Given the description of an element on the screen output the (x, y) to click on. 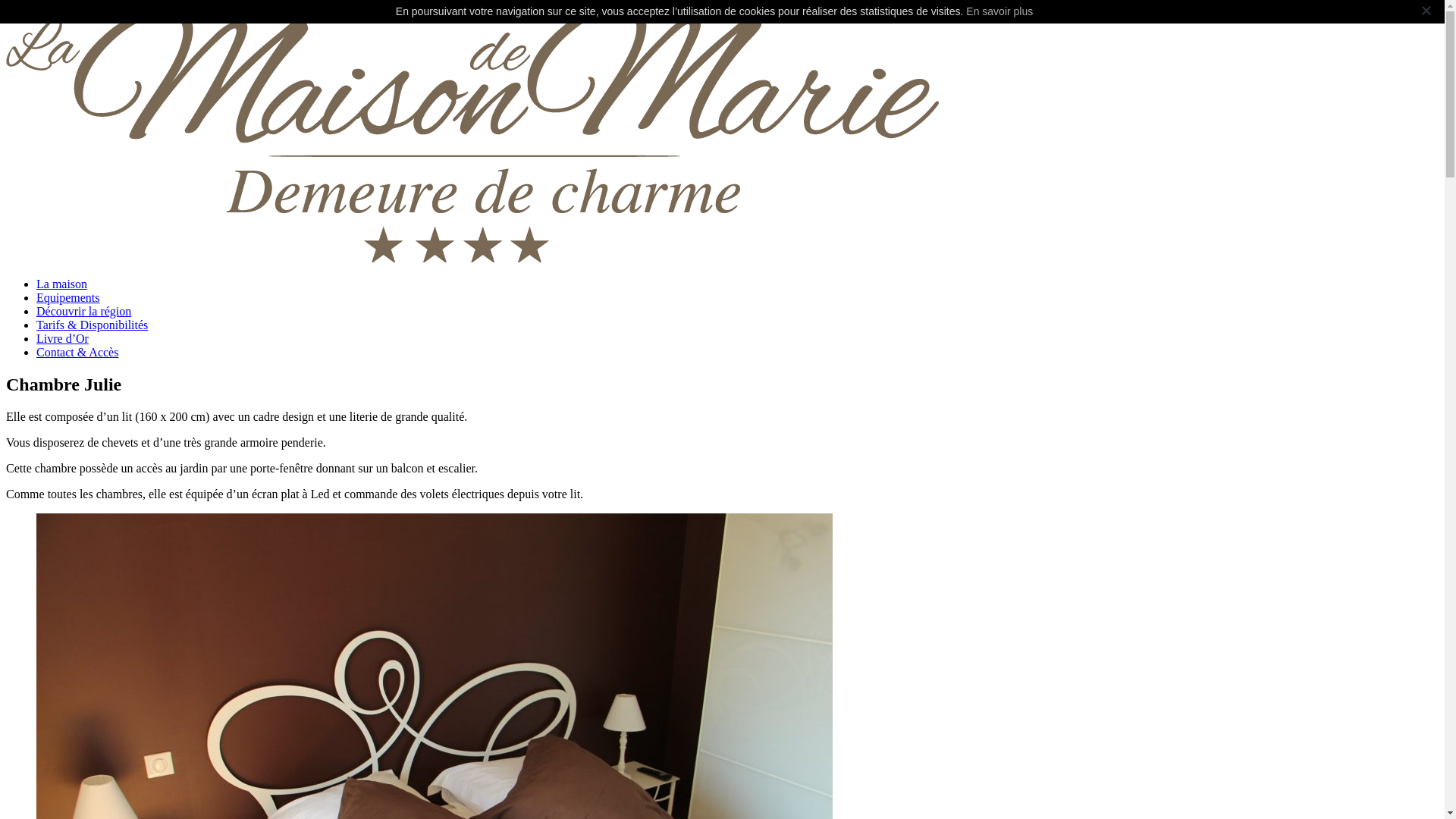
La maison Element type: text (61, 283)
Equipements Element type: text (68, 297)
En savoir plus Element type: text (999, 11)
